Given the description of an element on the screen output the (x, y) to click on. 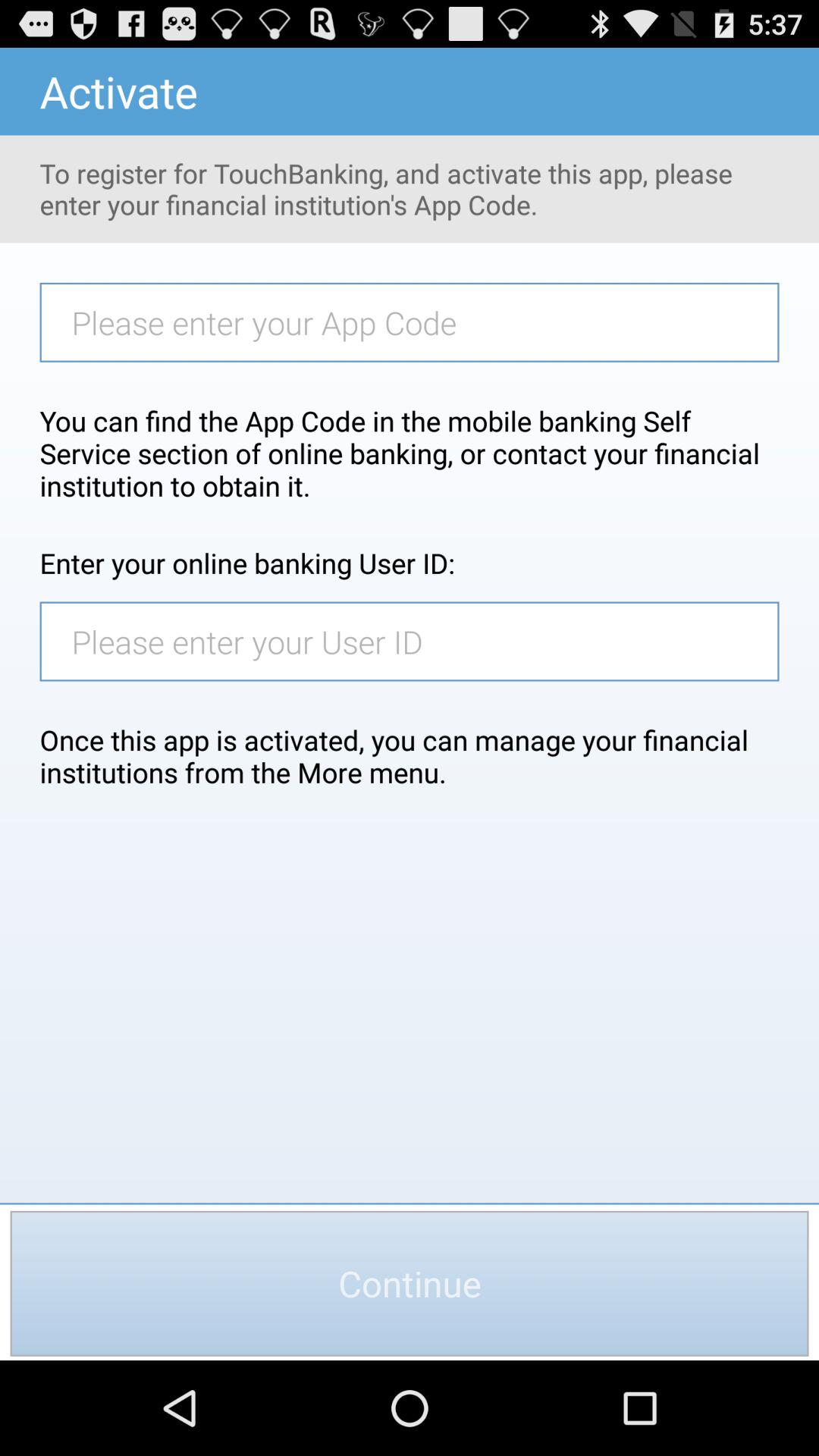
enter user id (417, 641)
